Given the description of an element on the screen output the (x, y) to click on. 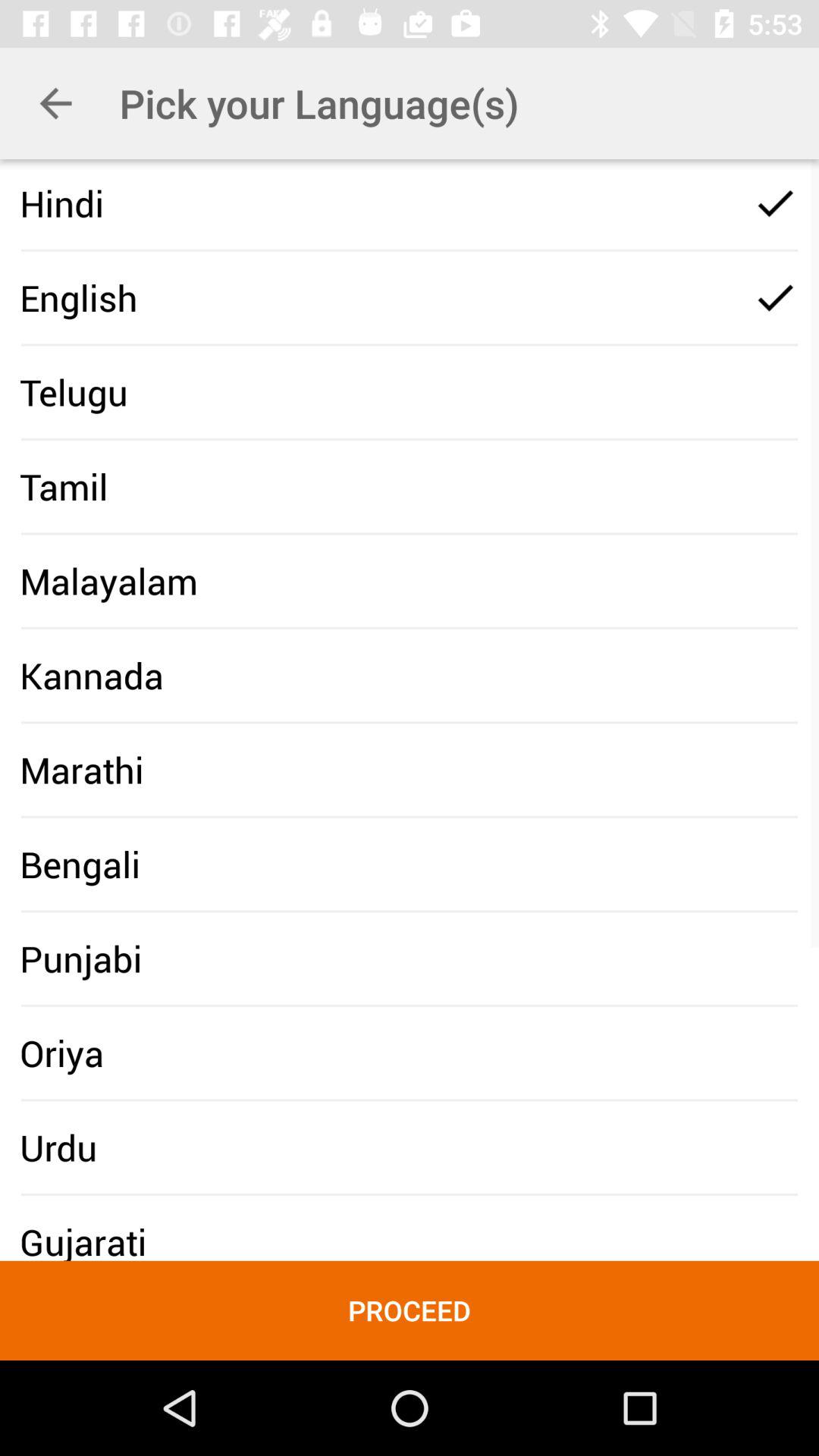
click malayalam icon (108, 580)
